Given the description of an element on the screen output the (x, y) to click on. 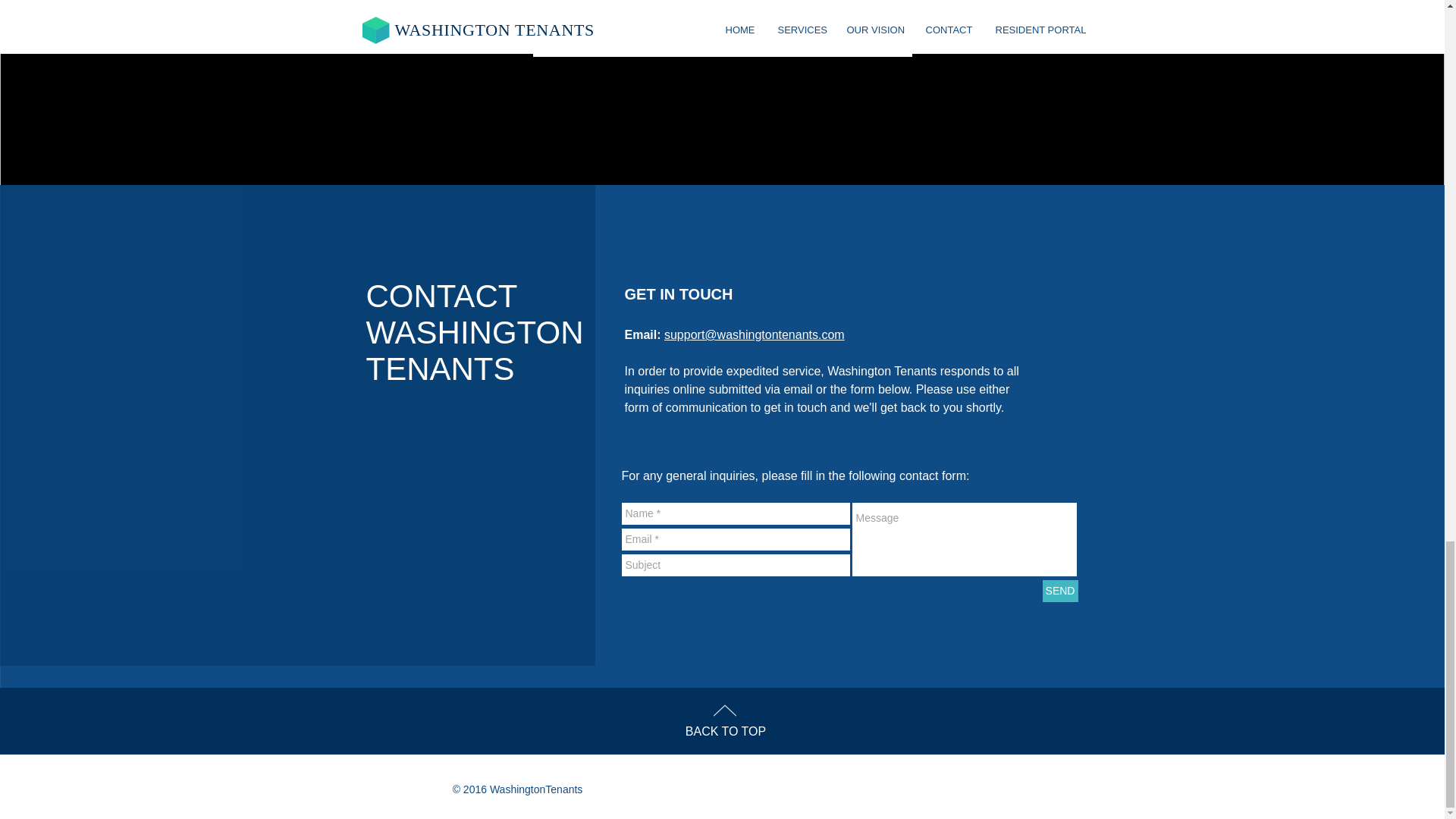
READ MORE (722, 18)
BACK TO TOP (725, 730)
SEND (1059, 590)
